Given the description of an element on the screen output the (x, y) to click on. 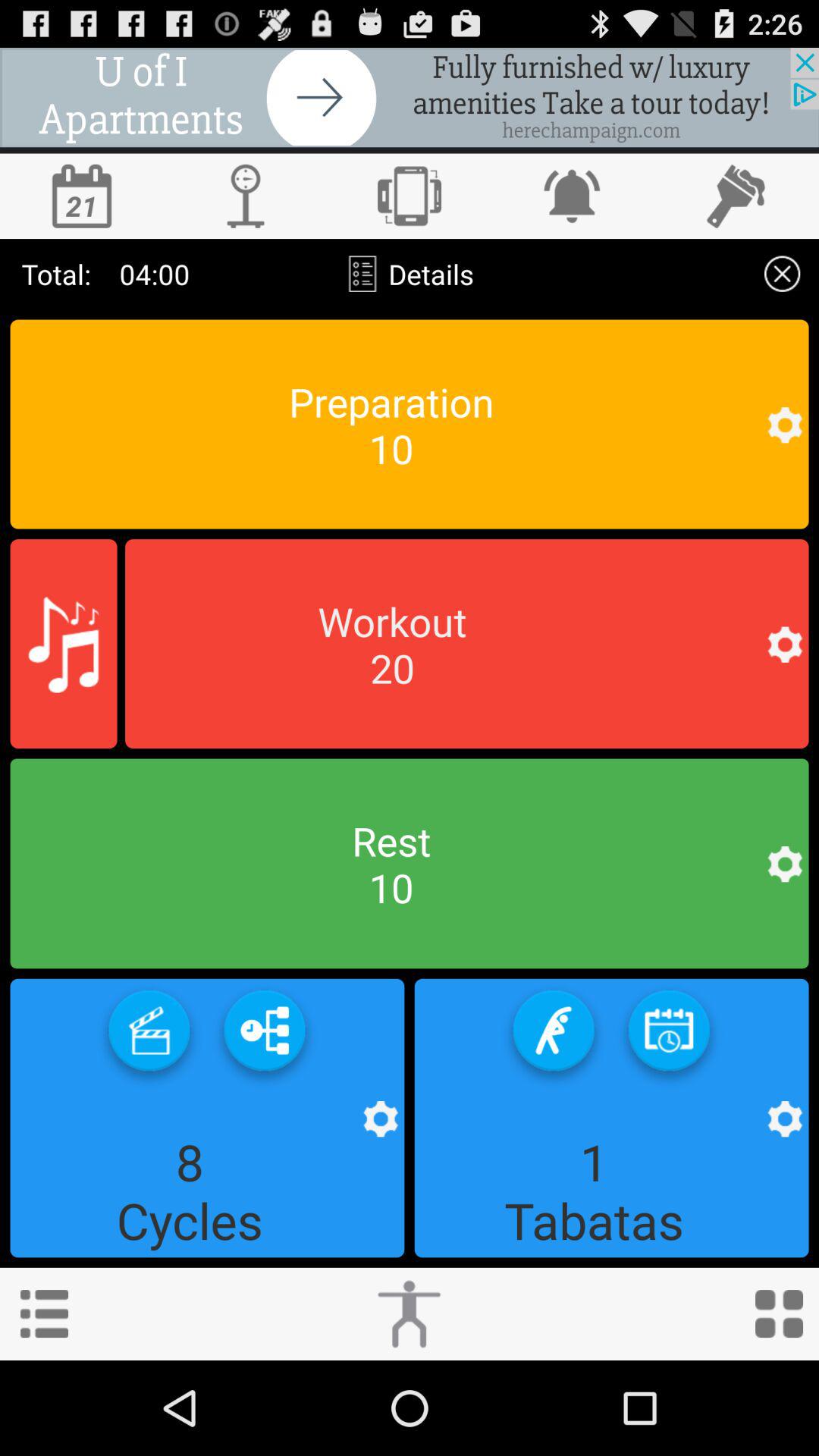
take box (149, 1036)
